Given the description of an element on the screen output the (x, y) to click on. 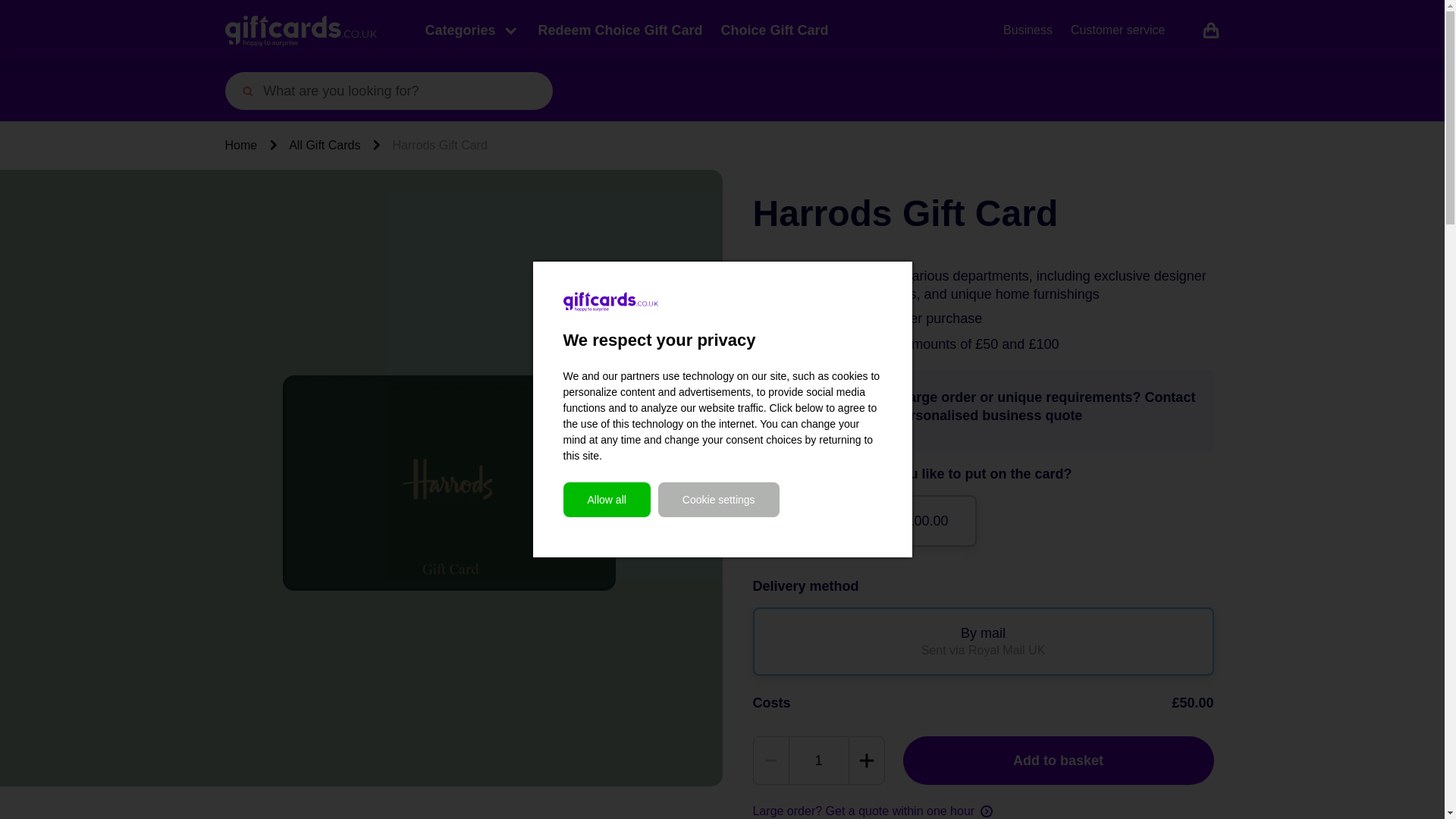
Home (240, 145)
Redeem Choice Gift Card (620, 30)
Customer service (1117, 30)
1 (818, 760)
Choice Gift Card (774, 30)
Add to basket (1057, 760)
All Gift Cards (323, 145)
Large order? Get a quote within one hour (872, 811)
Business (1027, 30)
